Given the description of an element on the screen output the (x, y) to click on. 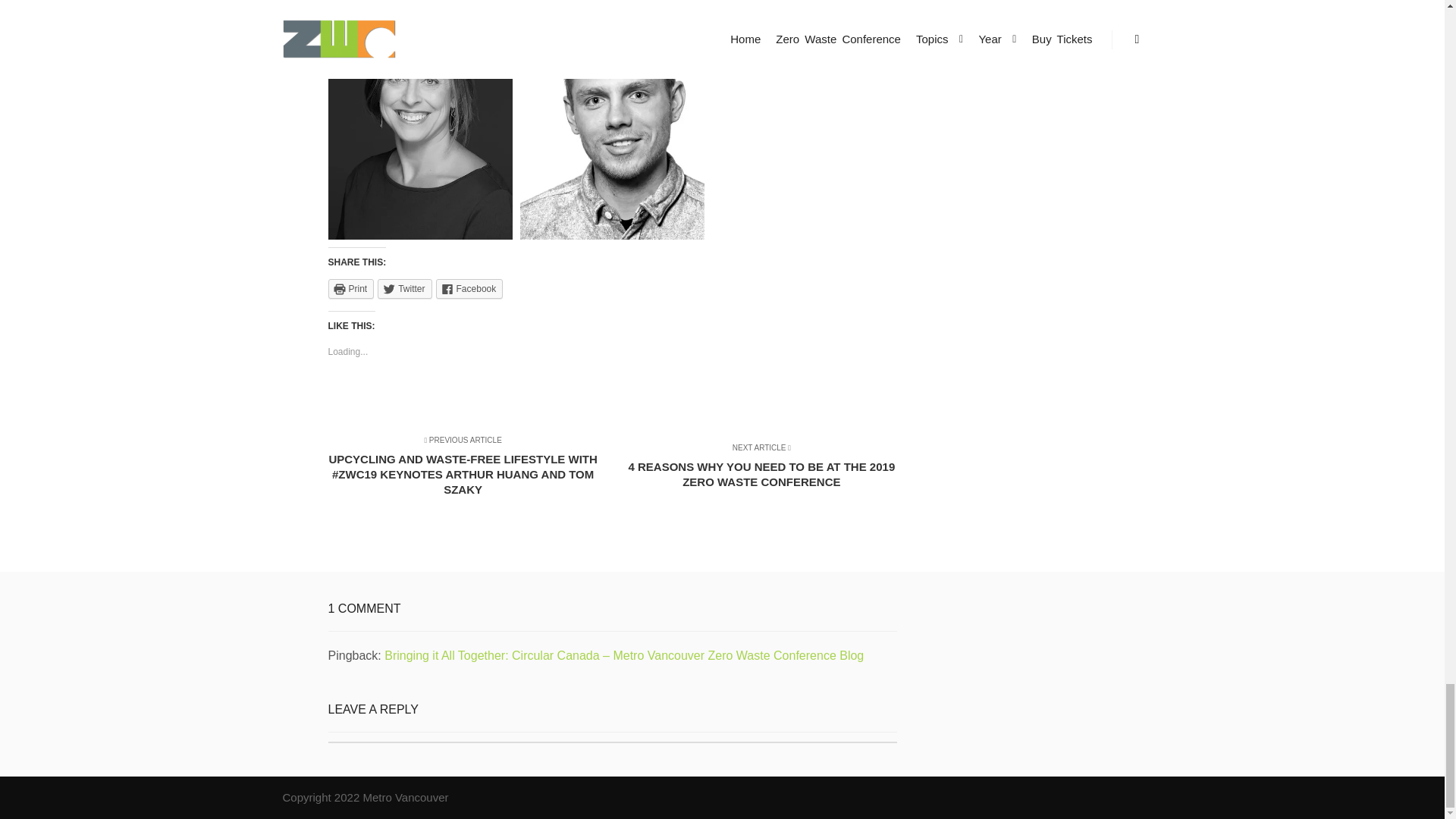
Click to share on Twitter (403, 288)
Print (350, 288)
Click to share on Facebook (469, 288)
Click to print (350, 288)
Facebook (469, 288)
Twitter (403, 288)
